Given the description of an element on the screen output the (x, y) to click on. 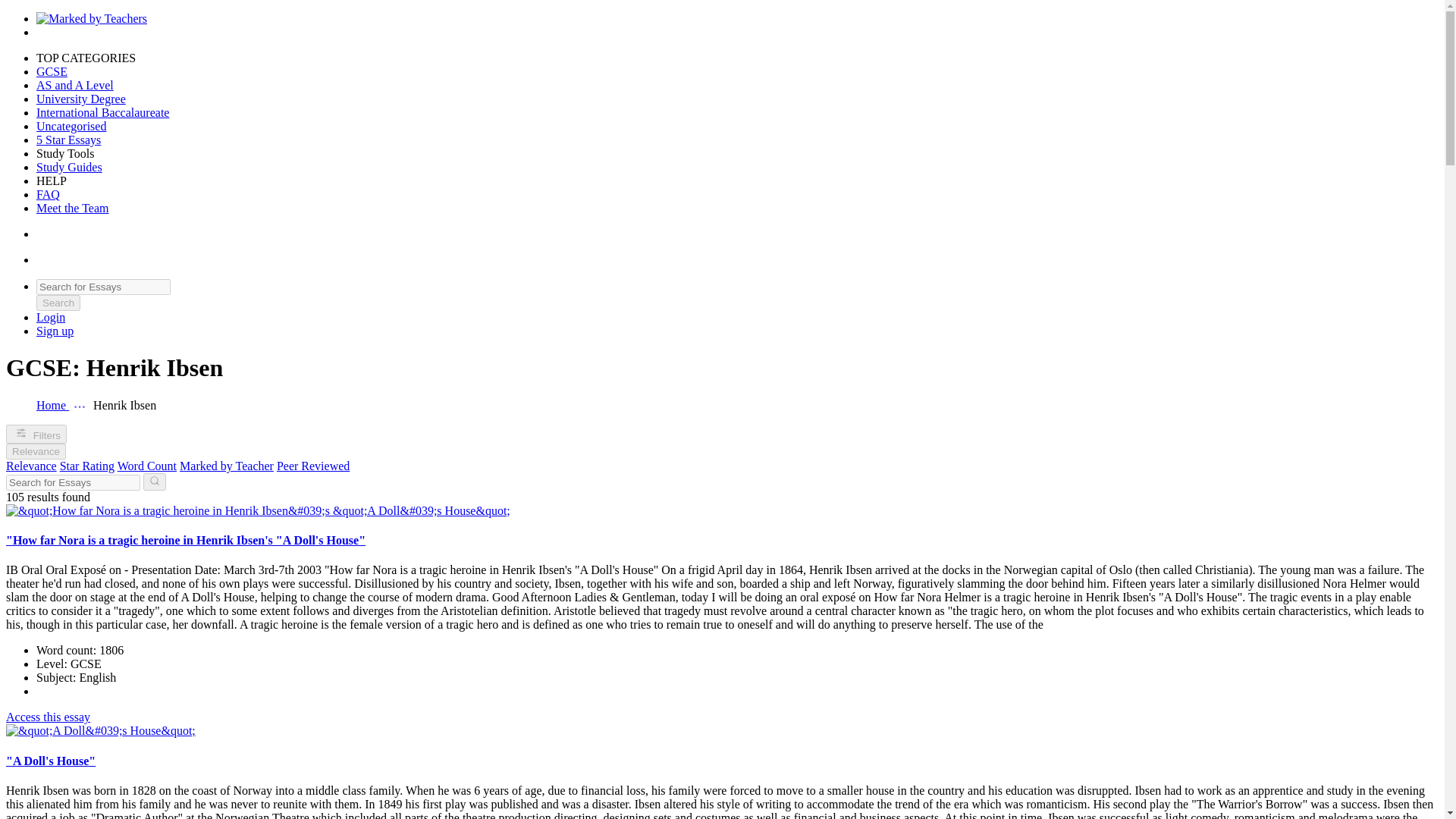
"A Doll's House" (50, 760)
GCSE (51, 71)
5 Star Essays (68, 139)
University Degree (80, 98)
Sign up (55, 330)
Filters (35, 434)
Marked by Teacher (226, 465)
Uncategorised (71, 125)
FAQ (47, 194)
Login (50, 317)
Study Guides (68, 166)
GCSE (51, 71)
Relevance (30, 465)
Meet the Team (71, 207)
5 Star Essays (68, 139)
